Given the description of an element on the screen output the (x, y) to click on. 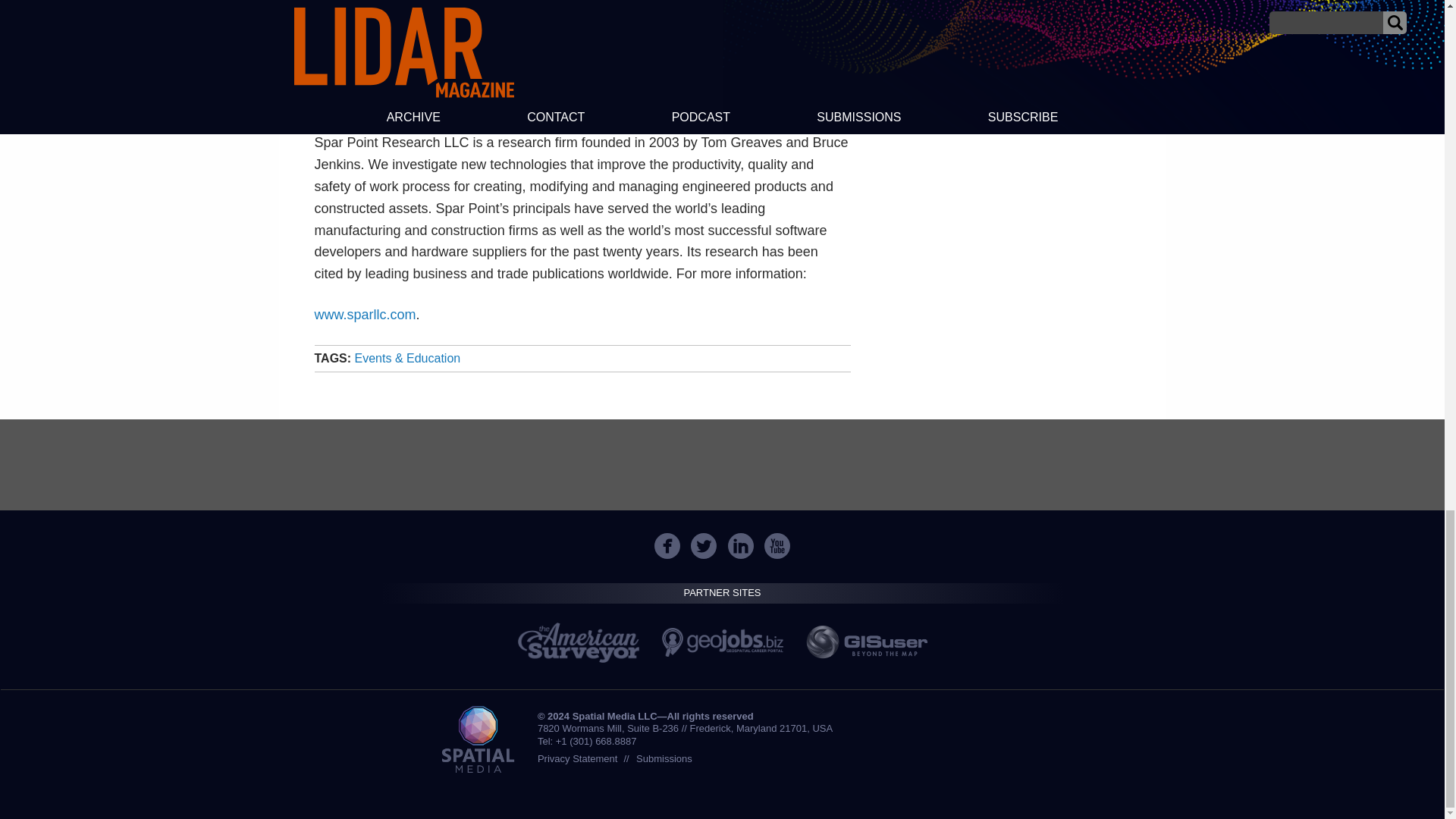
icon-sm-twitter (703, 545)
3rd party ad content (721, 464)
www.sparllc.com (364, 314)
icon-sm-twitter (703, 545)
icon-sm-fb (667, 545)
icon-sm-linkedin (741, 545)
Submissions (664, 758)
Privacy Statement (577, 758)
icon-sm-youtube (776, 545)
icon-sm-youtube (777, 545)
icon-sm-linkedin (740, 545)
icon-sm-fb (666, 545)
